Given the description of an element on the screen output the (x, y) to click on. 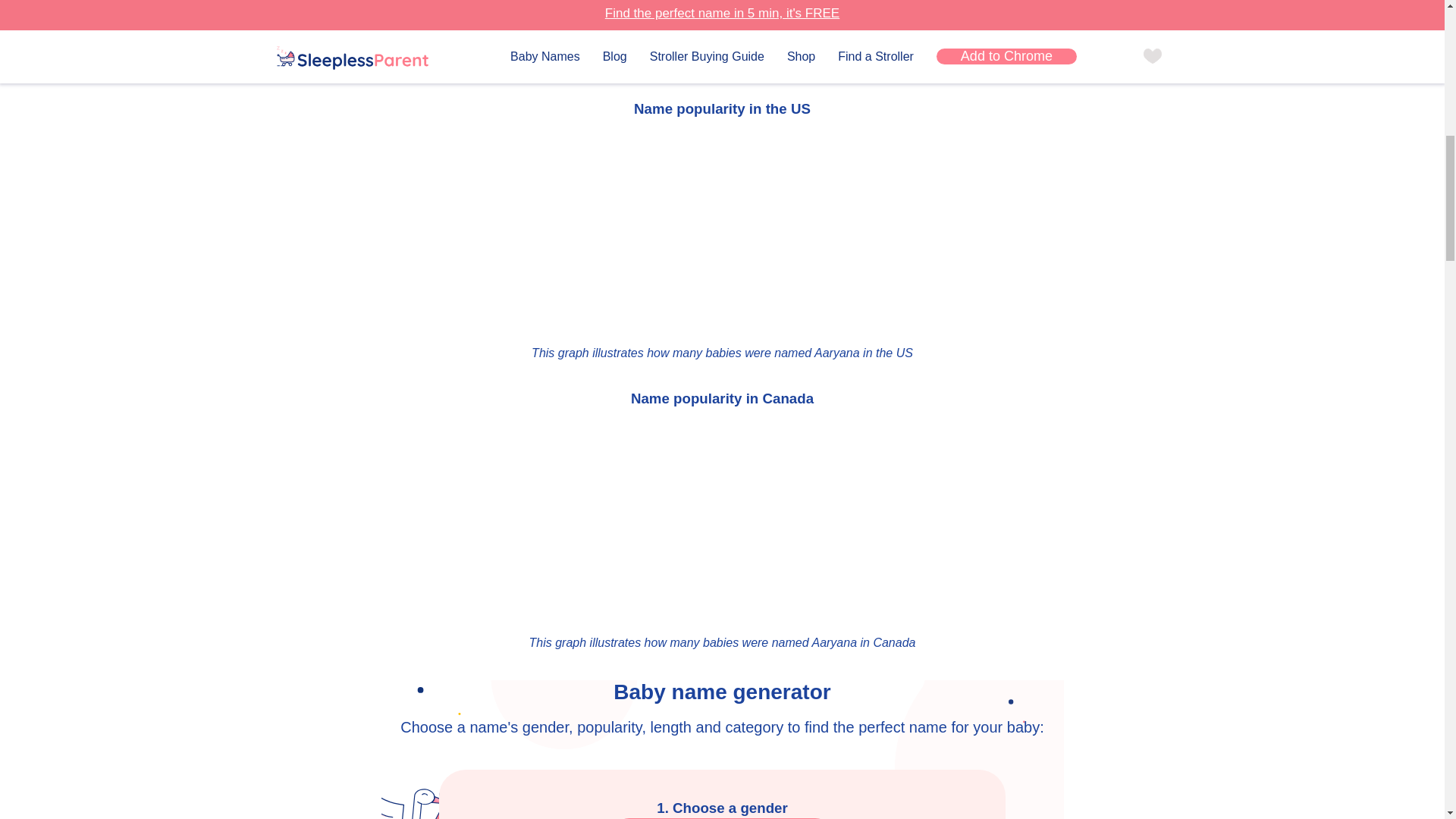
7 (689, 61)
